Given the description of an element on the screen output the (x, y) to click on. 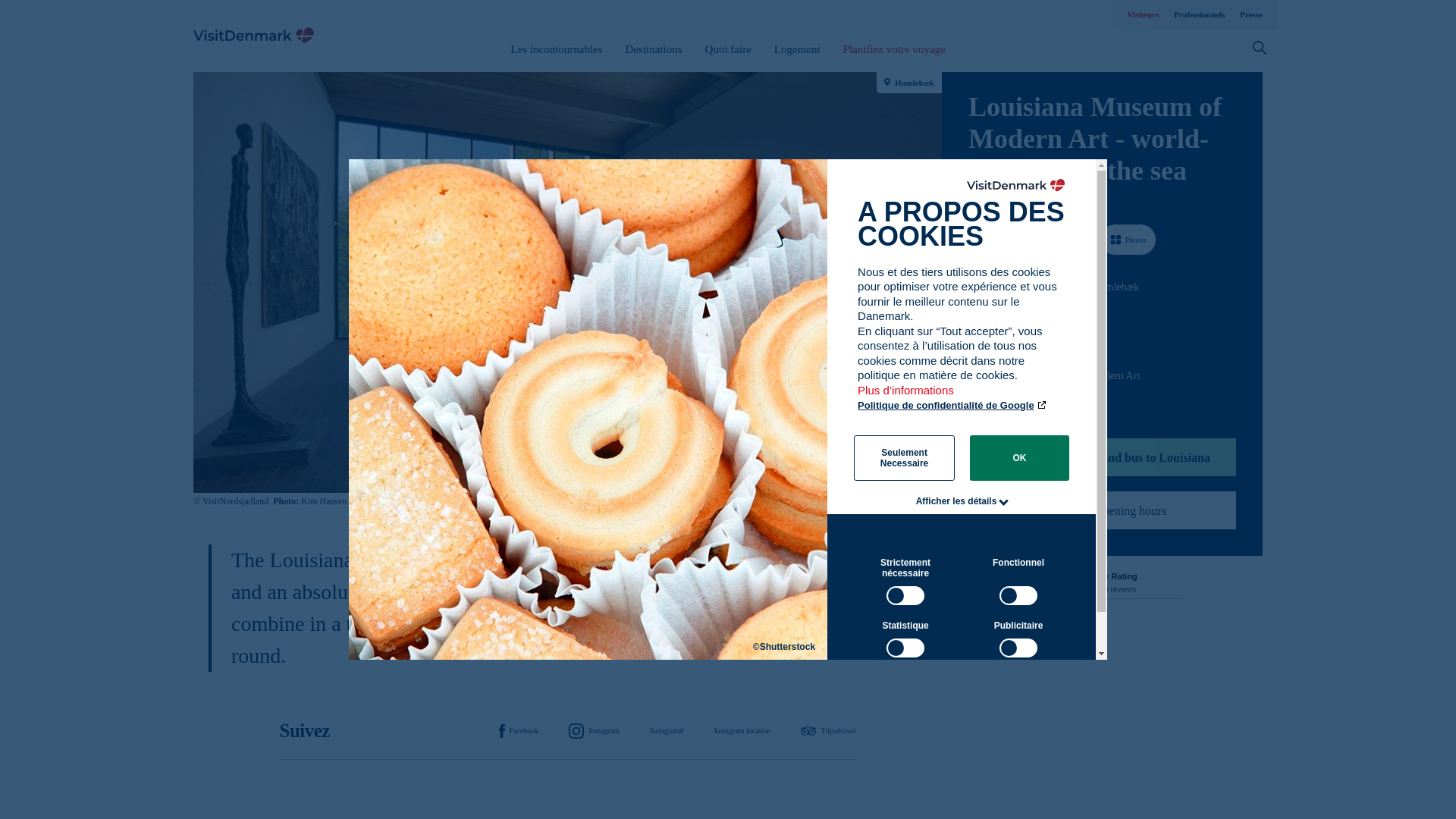
OK (1018, 457)
Path (973, 374)
Path (973, 314)
Seulement Necessaire (904, 457)
